Given the description of an element on the screen output the (x, y) to click on. 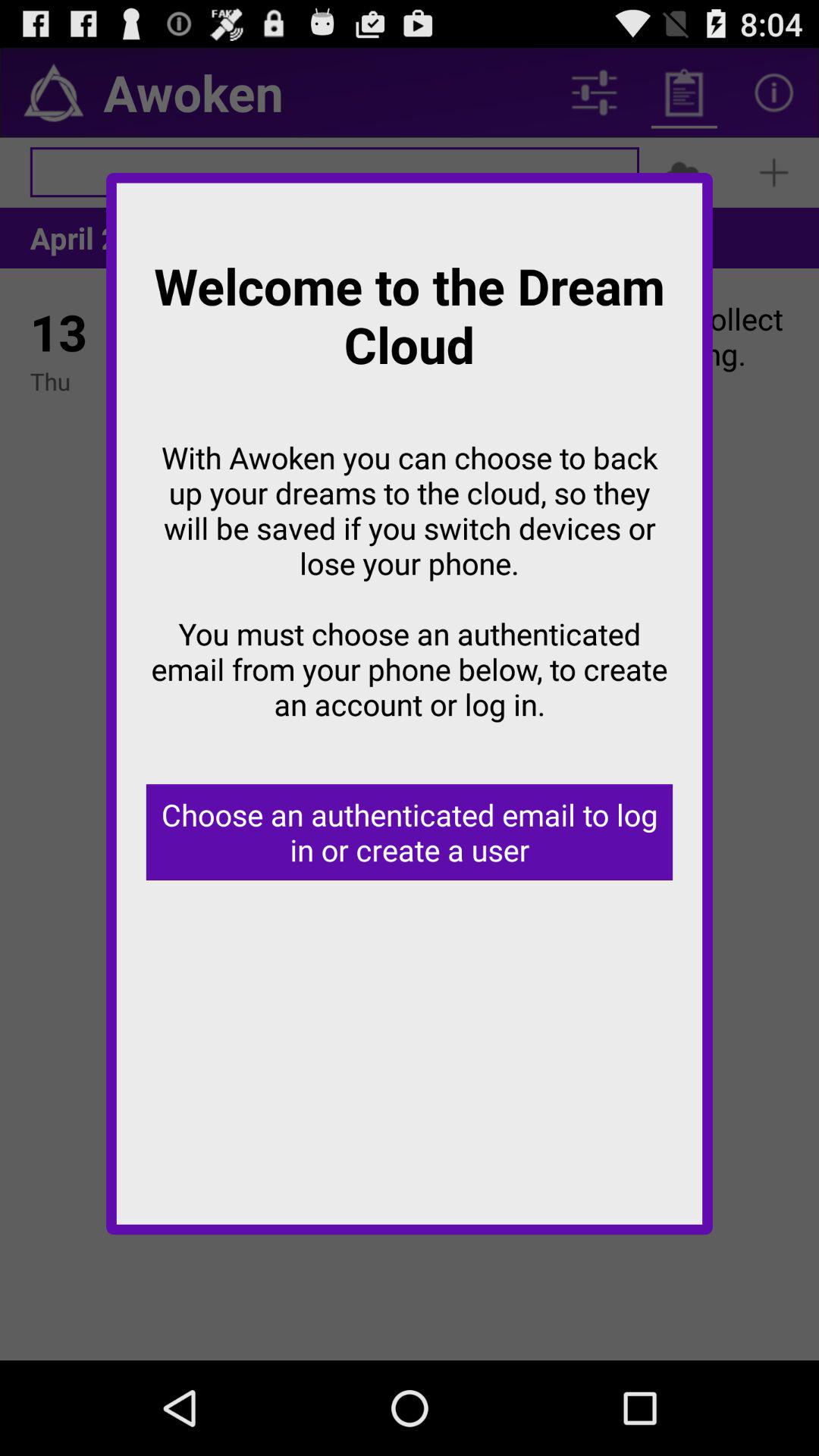
turn off choose an authenticated item (409, 832)
